Given the description of an element on the screen output the (x, y) to click on. 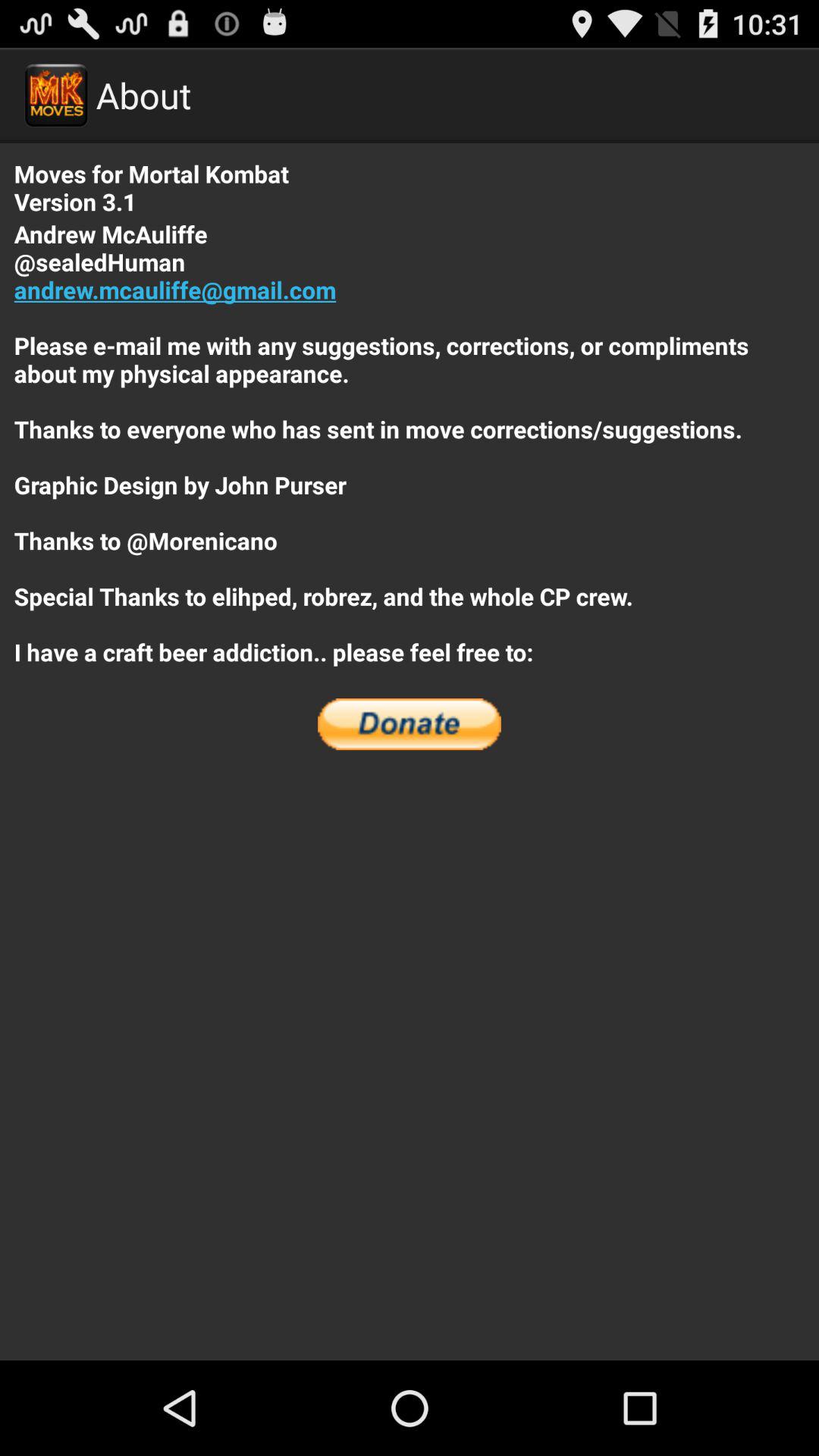
paypal donation (409, 724)
